Given the description of an element on the screen output the (x, y) to click on. 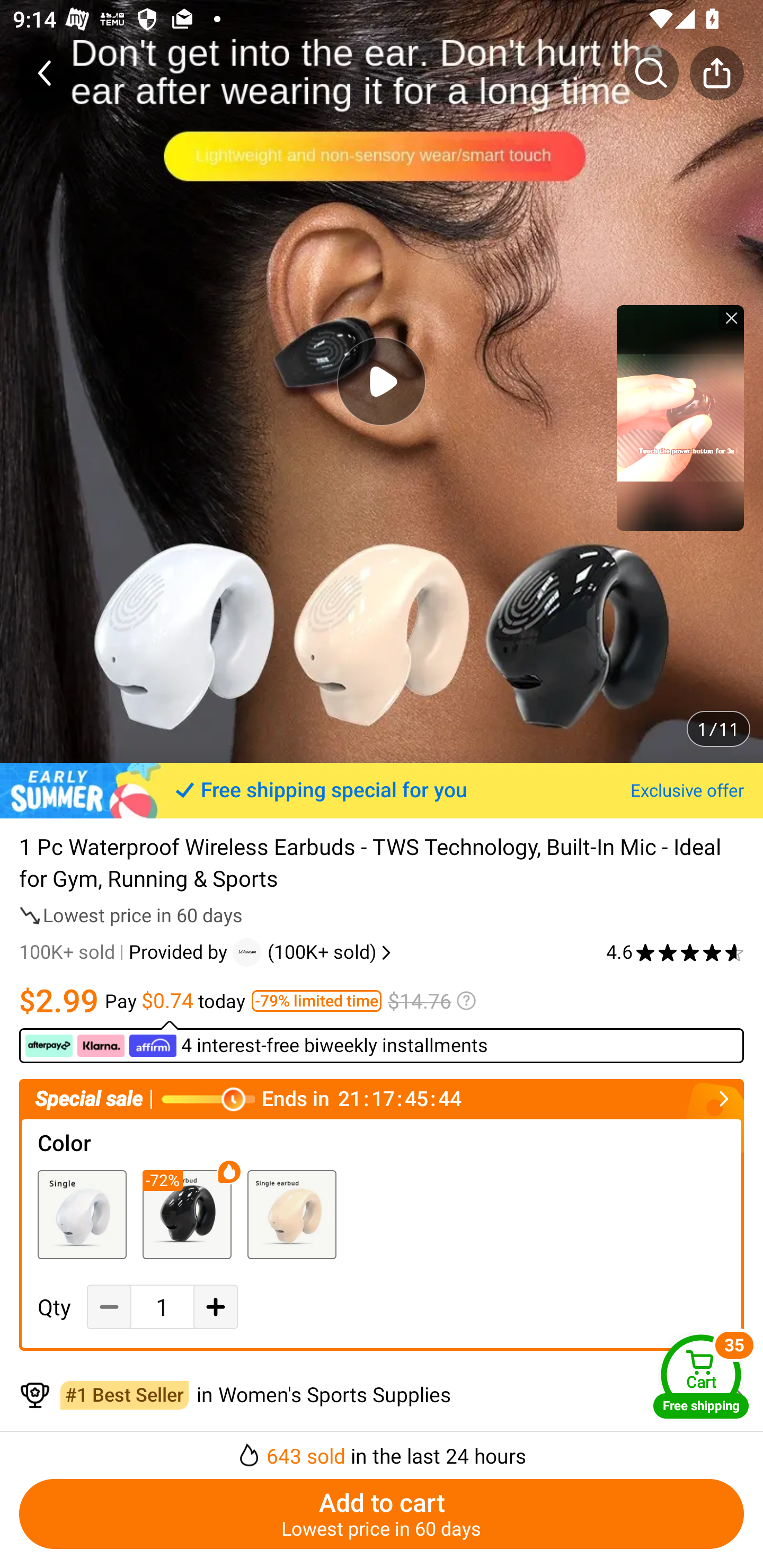
Back (46, 72)
Share (716, 72)
tronplayer_view (680, 417)
Free shipping special for you Exclusive offer (381, 790)
100K+ sold Provided by  (125, 952)
4.6 (674, 952)
￼ ￼ ￼ 4 interest-free biweekly installments (381, 1041)
￼ ￼ ￼ 4 interest-free biweekly installments (257, 1045)
Special sale Ends in￼￼ (381, 1098)
White (81, 1214)
Black -72% (186, 1214)
Yellow (291, 1214)
Decrease Quantity Button (108, 1306)
Add Quantity button (215, 1306)
1 (162, 1307)
Cart Free shipping Cart (701, 1375)
￼￼in Women's Sports Supplies (381, 1395)
￼￼643 sold in the last 24 hours (381, 1450)
Add to cart Lowest price in 60 days (381, 1513)
